Given the description of an element on the screen output the (x, y) to click on. 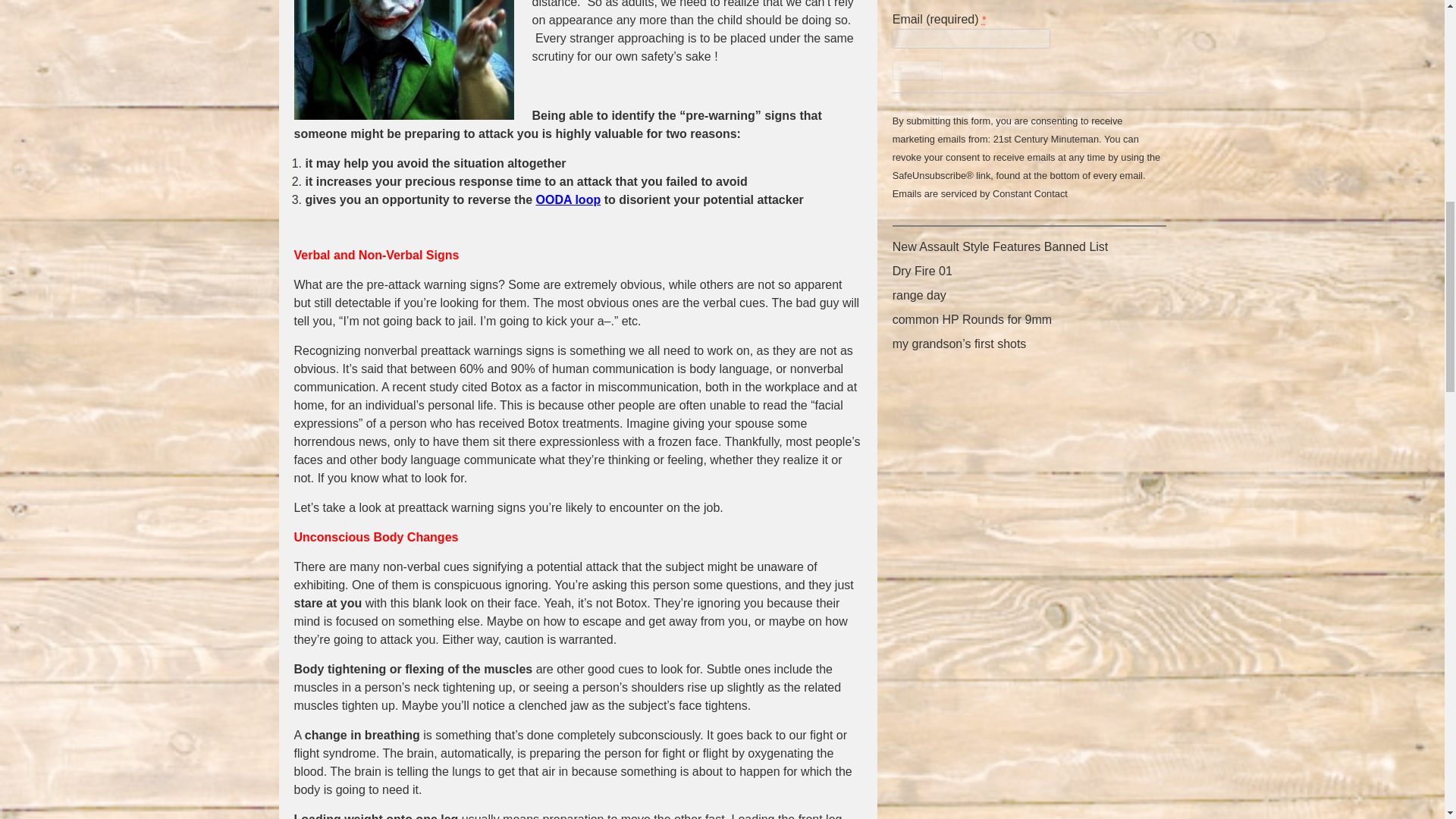
Sign up (917, 70)
